Given the description of an element on the screen output the (x, y) to click on. 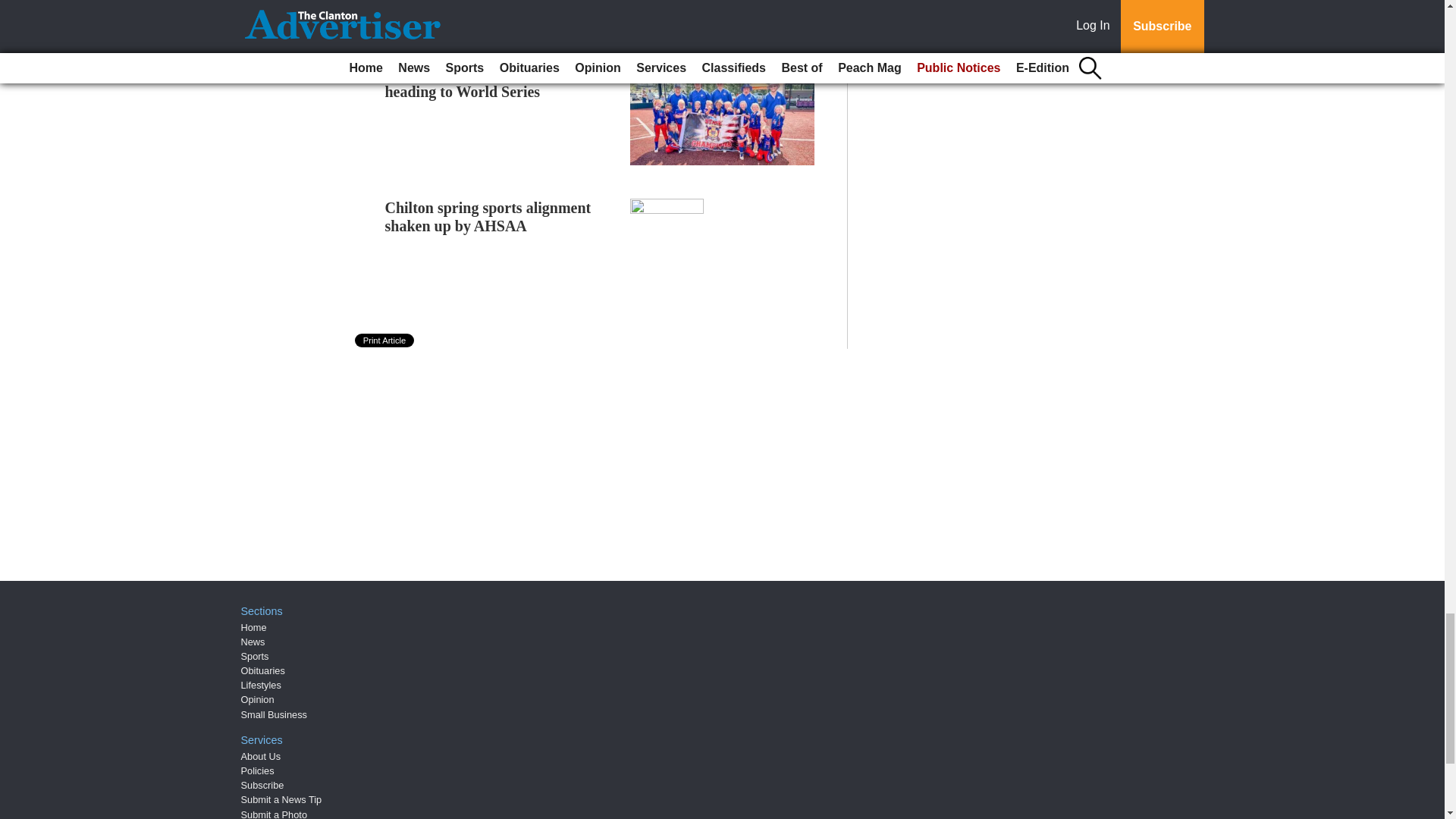
Clanton youth softball teams heading to World Series (478, 82)
Home (253, 627)
Chilton spring sports alignment shaken up by AHSAA (488, 216)
Clanton youth softball teams heading to World Series (478, 82)
Print Article (384, 340)
Chilton spring sports alignment shaken up by AHSAA (488, 216)
